Given the description of an element on the screen output the (x, y) to click on. 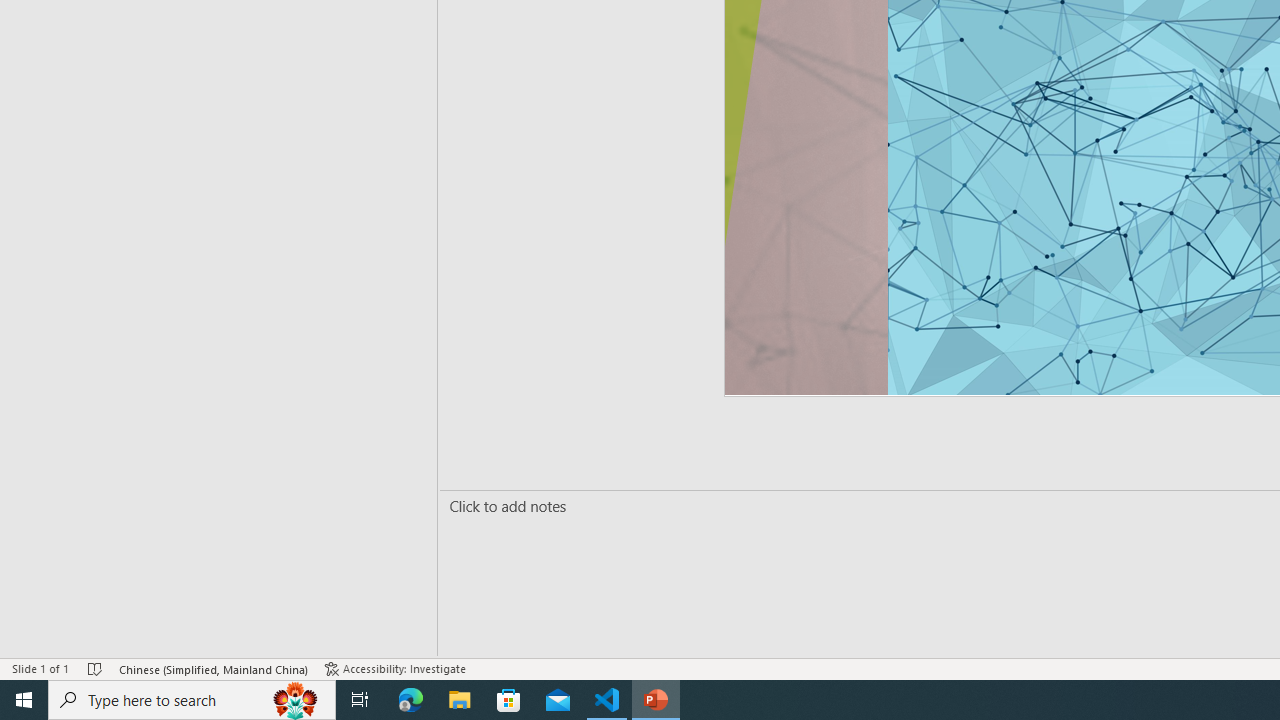
Spell Check No Errors (95, 668)
Accessibility Checker Accessibility: Investigate (397, 668)
